Given the description of an element on the screen output the (x, y) to click on. 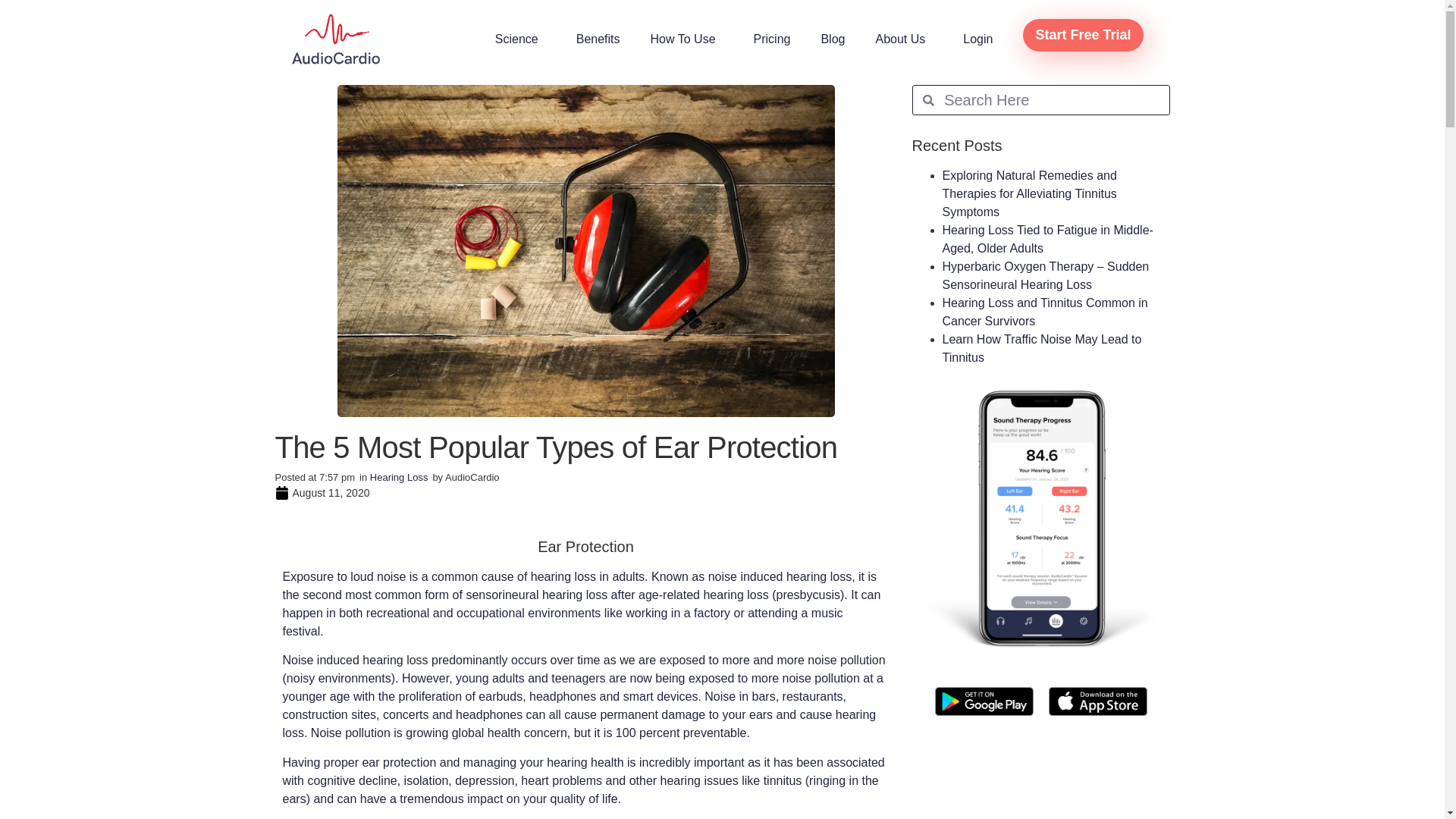
Hearing Loss (398, 477)
Start Free Trial (1082, 34)
Start Free Trial (1082, 35)
About Us (903, 38)
How To Use (686, 38)
Science (520, 38)
Blog (832, 38)
Benefits (597, 38)
Login (977, 38)
Pricing (772, 38)
